Given the description of an element on the screen output the (x, y) to click on. 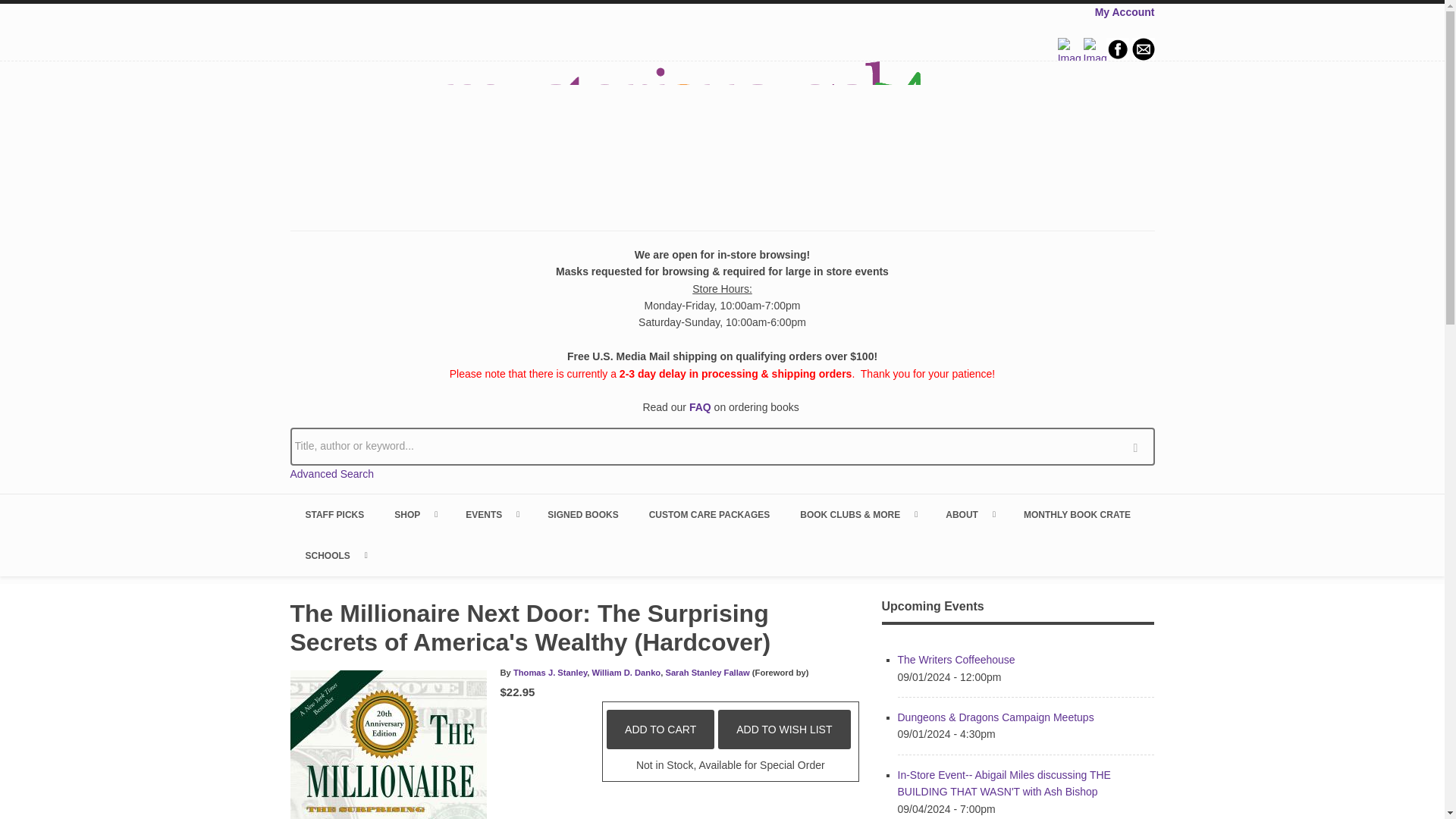
Add to Cart (660, 729)
EVENTS (490, 514)
Title, author or keyword... (721, 446)
SHOP (413, 514)
Home (722, 134)
STAFF PICKS (333, 514)
Add to Wish List (783, 729)
FAQ (699, 407)
My Account (1124, 11)
